Given the description of an element on the screen output the (x, y) to click on. 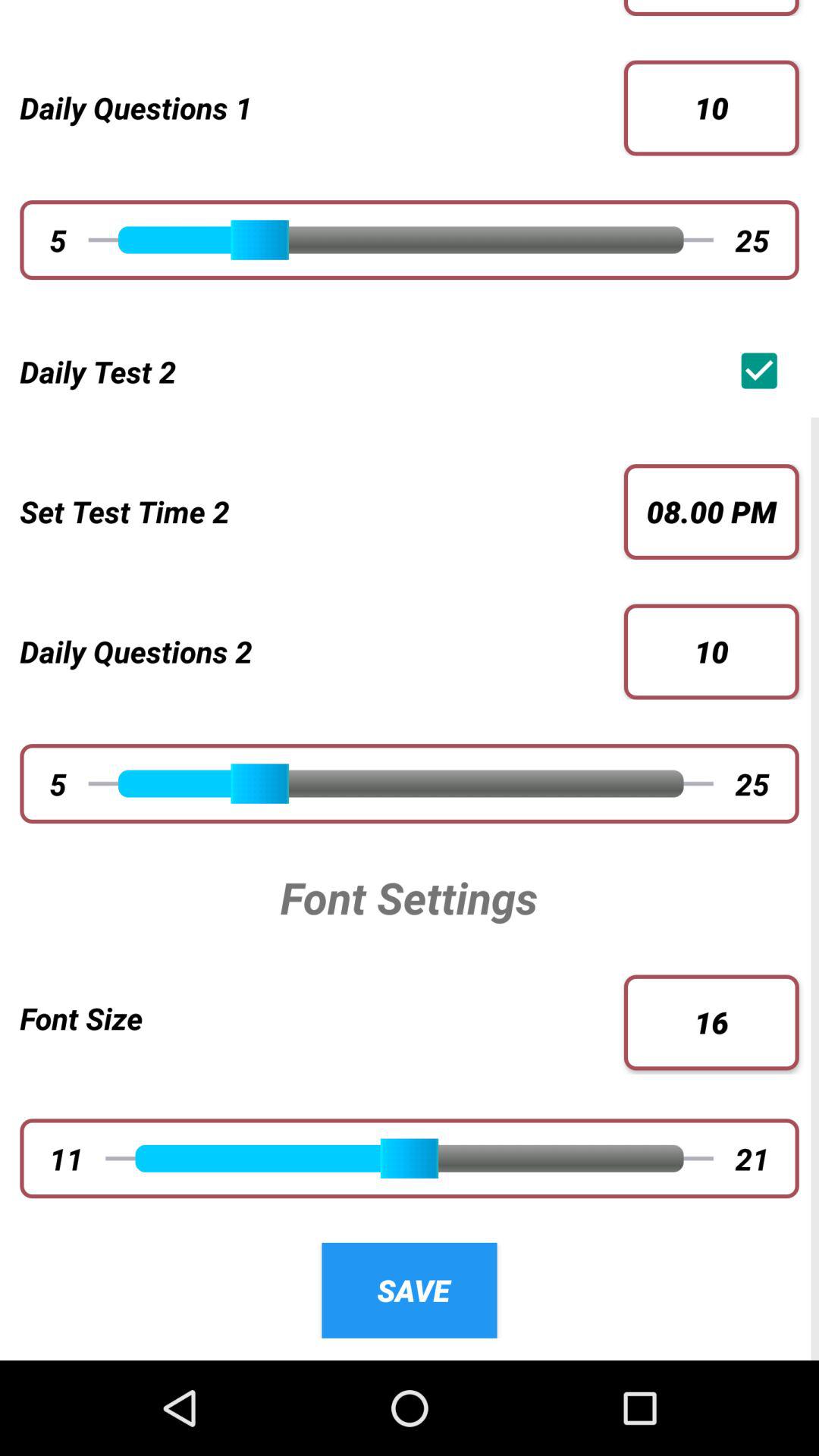
turn on the item to the left of 16 (321, 1018)
